Given the description of an element on the screen output the (x, y) to click on. 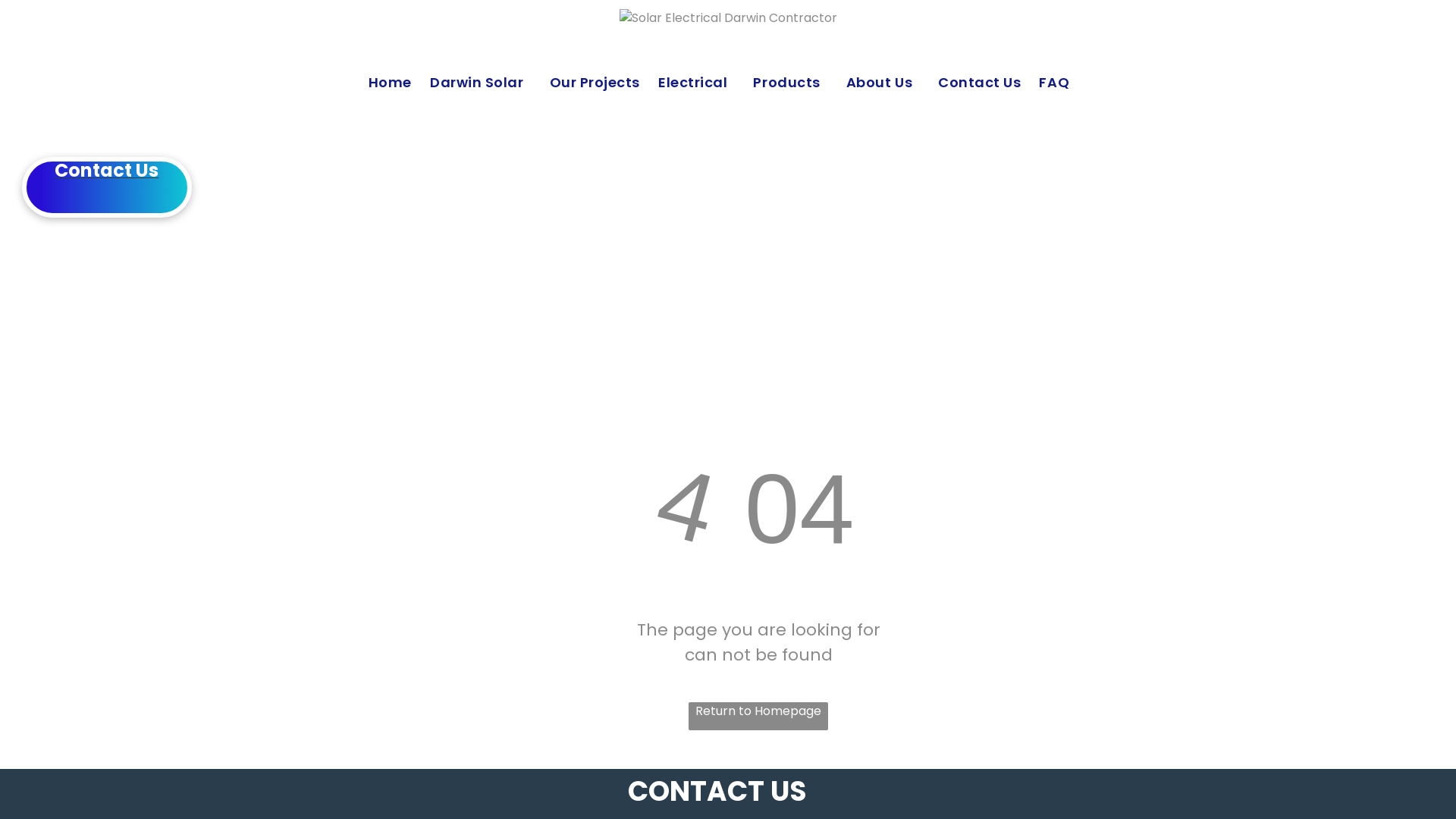
Our Projects Element type: text (603, 82)
Contact Us Element type: text (106, 186)
CONTACT US Element type: text (716, 790)
Darwin Solar Element type: text (489, 82)
Contact Us Element type: text (988, 82)
Home Element type: text (398, 82)
Return to Homepage Element type: text (758, 716)
About Us Element type: text (892, 82)
Electrical Element type: text (705, 82)
Products Element type: text (799, 82)
FAQ Element type: text (1062, 82)
